Given the description of an element on the screen output the (x, y) to click on. 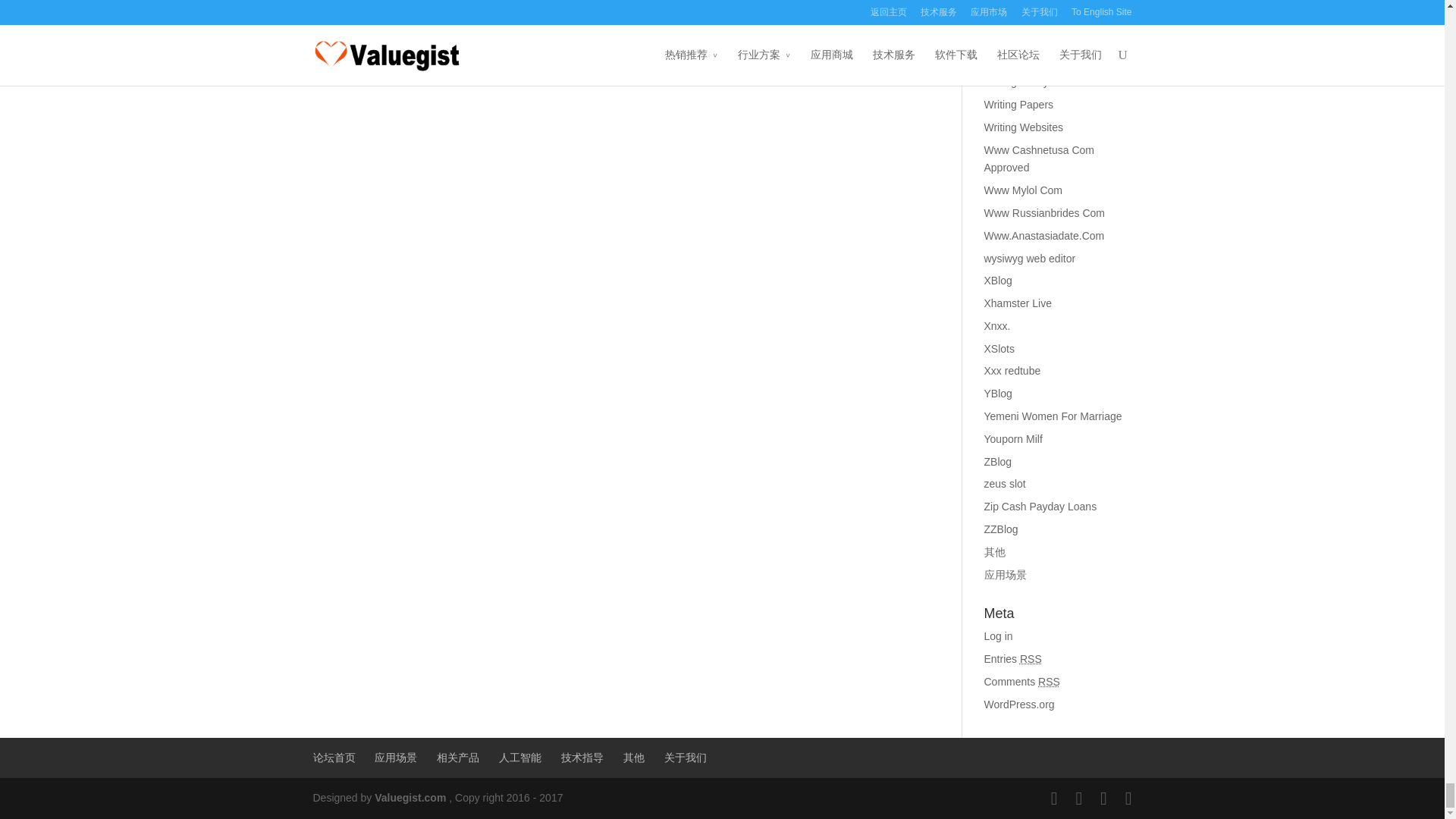
Really Simple Syndication (1048, 681)
Really Simple Syndication (1031, 658)
